Given the description of an element on the screen output the (x, y) to click on. 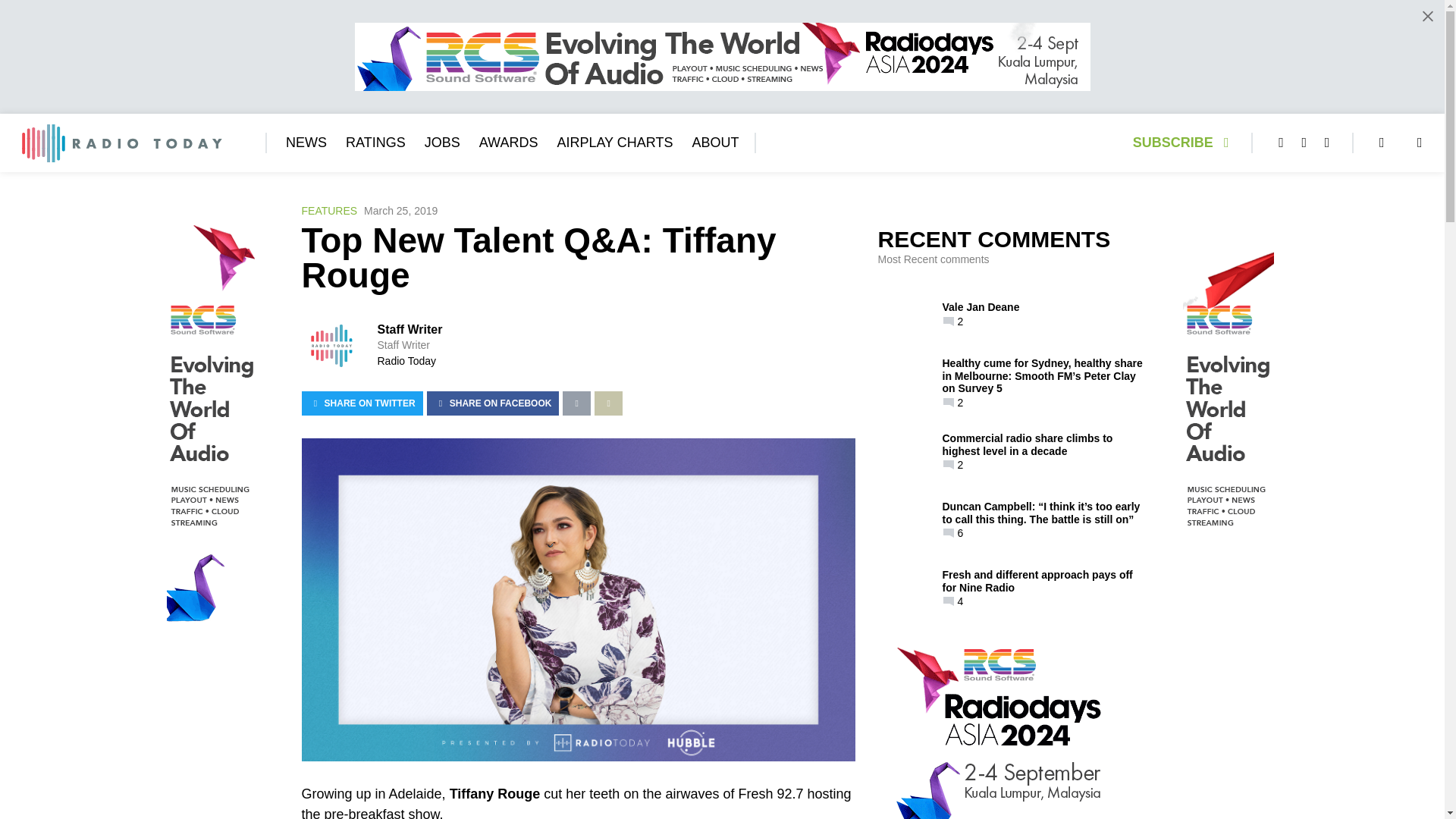
ABOUT (714, 142)
SUBSCRIBE (1184, 142)
AIRPLAY CHARTS (614, 142)
RATINGS (376, 142)
NEWS (305, 142)
Close (1427, 16)
Radio Today (406, 360)
AWARDS (508, 142)
FEATURES (329, 211)
Staff Writer (409, 328)
